Given the description of an element on the screen output the (x, y) to click on. 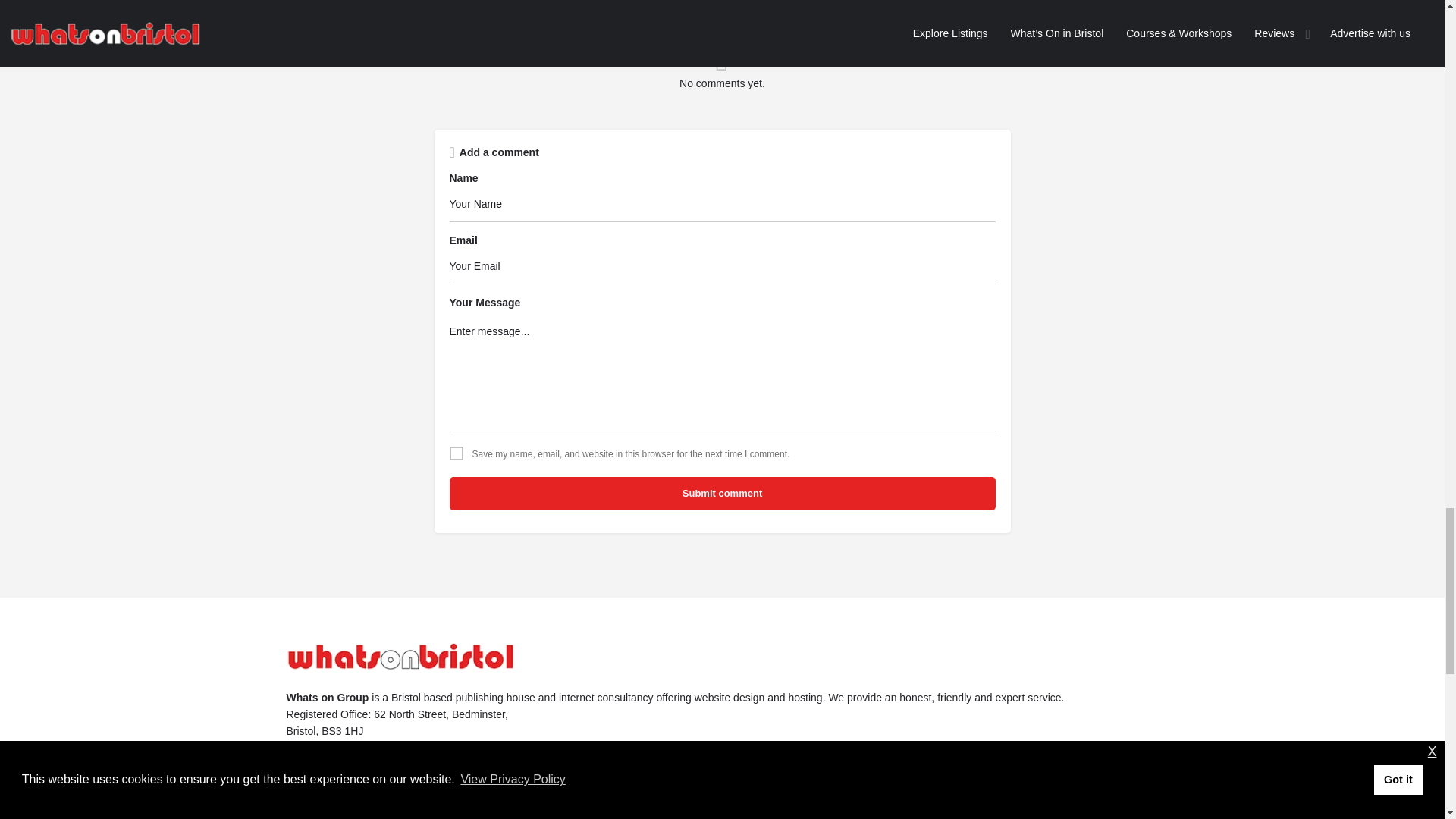
Contact Us (314, 813)
Submit comment (721, 493)
www.whatsongroup.co.uk (351, 780)
